Given the description of an element on the screen output the (x, y) to click on. 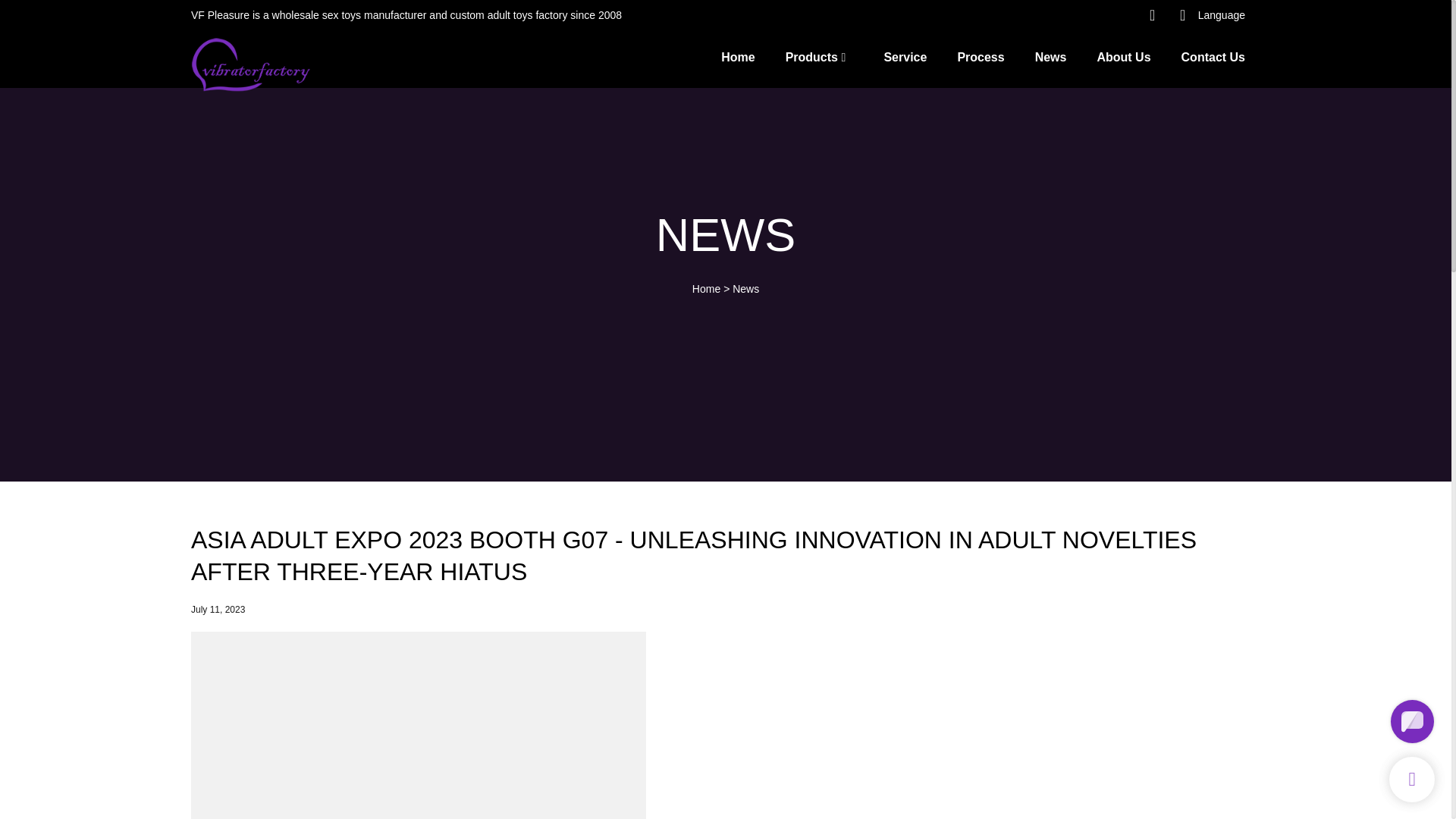
News (1051, 56)
Service (904, 56)
linkedin (1114, 15)
facebook (1053, 15)
Home (737, 56)
News (745, 288)
youtube (1083, 15)
Home (706, 288)
Contact Us (1212, 56)
About Us (1123, 56)
